Given the description of an element on the screen output the (x, y) to click on. 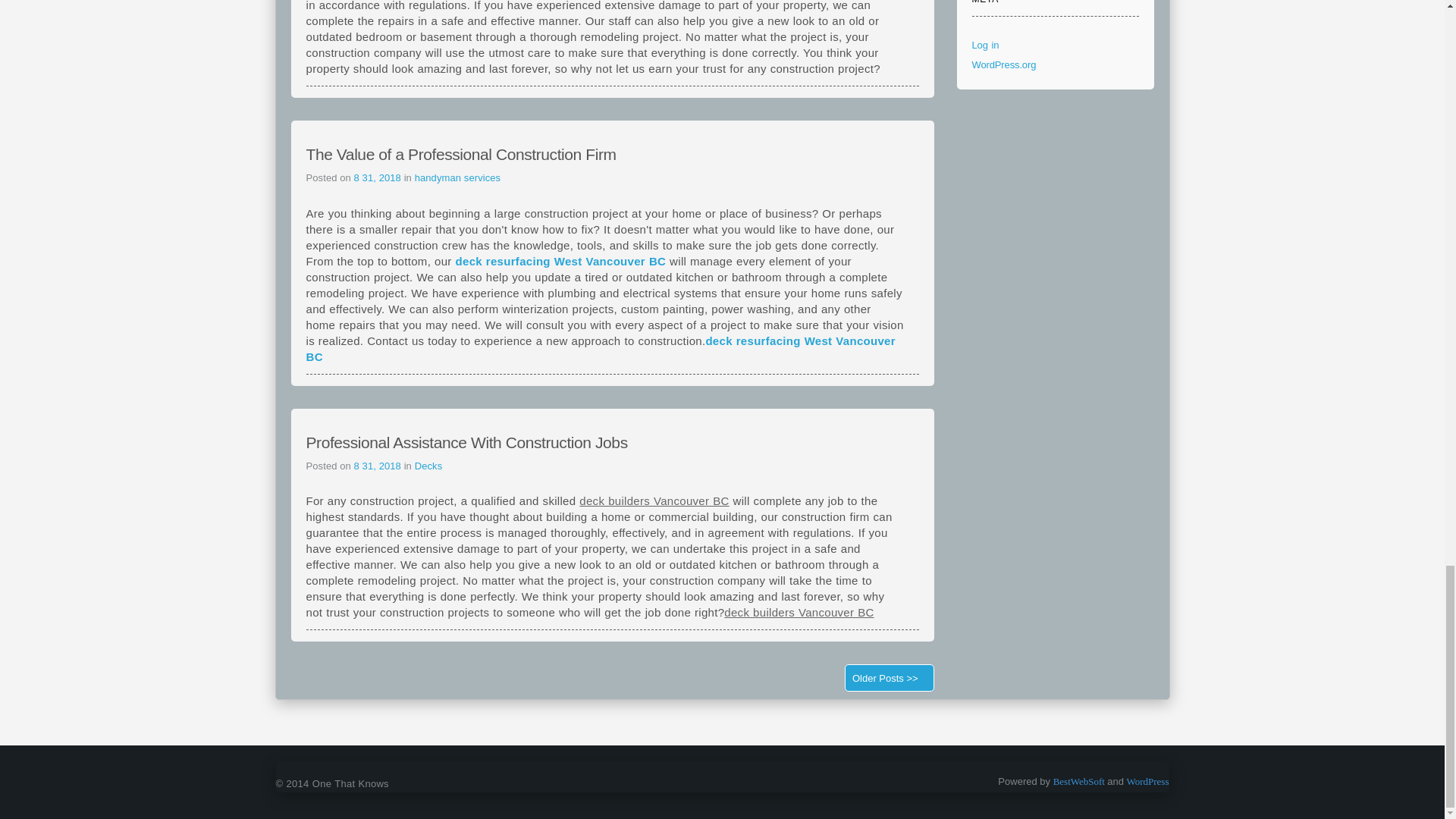
Professional Assistance With Construction Jobs (466, 442)
deck builders Vancouver BC (654, 500)
The Value of a Professional Construction Firm (460, 153)
The Value of a Professional Construction Firm (460, 153)
handyman services (457, 177)
deck resurfacing West Vancouver BC (560, 260)
8 31, 2018  (378, 465)
deck resurfacing West Vancouver BC (600, 347)
deck builders Vancouver BC (798, 612)
8 31, 2018  (378, 177)
Decks (428, 465)
